Given the description of an element on the screen output the (x, y) to click on. 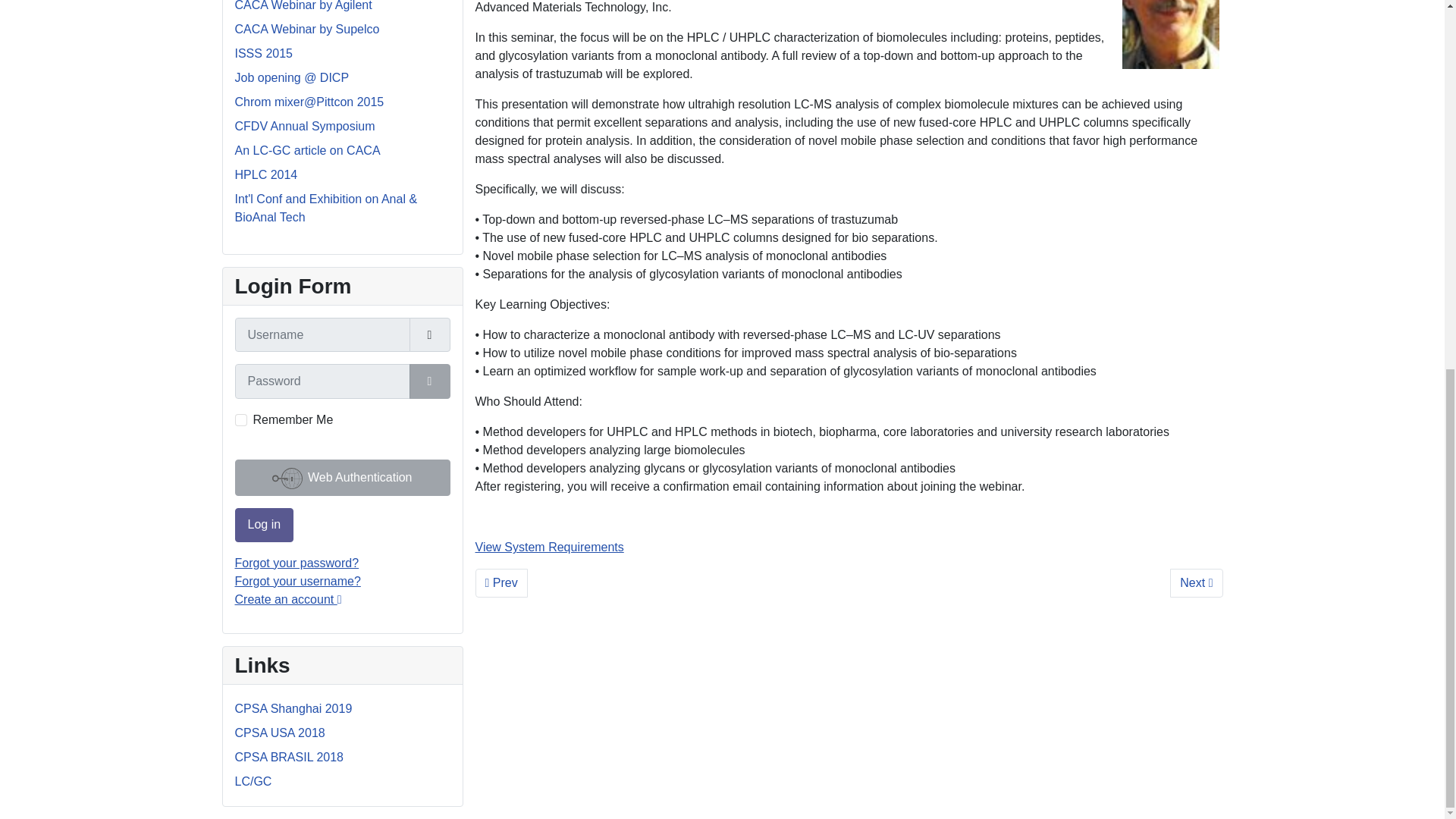
CACA Webinar by Supelco (307, 29)
HPLC 2014 (266, 174)
Web Authentication (341, 477)
An LC-GC article on CACA (307, 150)
Username (429, 334)
Log in (264, 524)
Show Password (429, 380)
CACA Webinar by Agilent (303, 5)
Forgot your username? (297, 581)
yes (240, 419)
CFDV Annual Symposium (304, 125)
Forgot your password? (296, 562)
ISSS 2015 (264, 52)
Web Authentication (341, 477)
